Given the description of an element on the screen output the (x, y) to click on. 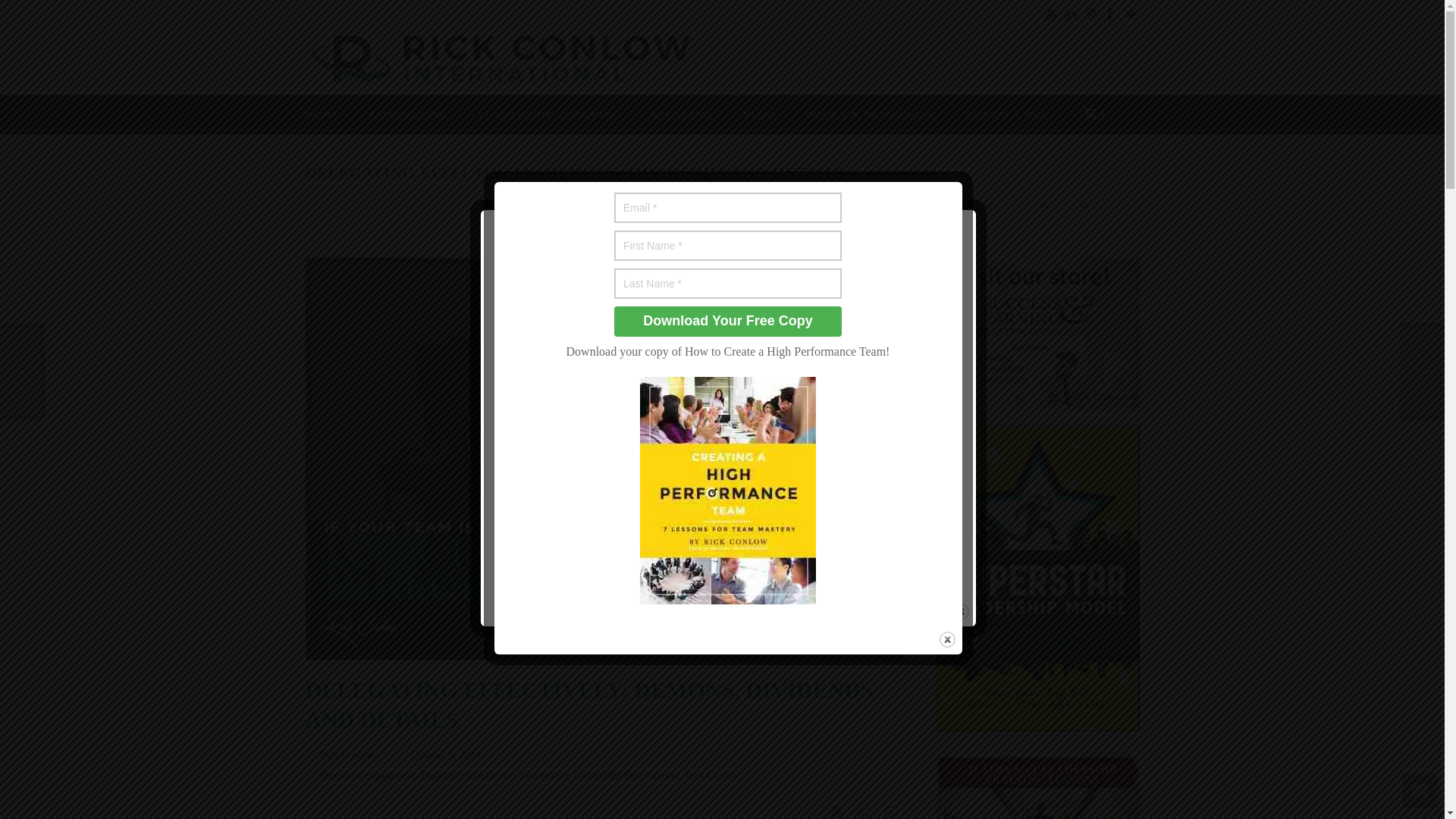
Posts by Rick Conlow (346, 754)
Download Your Free Copy (727, 321)
HOME (702, 204)
LEADERSHIP COACHING (550, 115)
EMPLOYEE ENGAGEMENT (782, 204)
October 3, 2014 (445, 754)
HOME (322, 115)
CONTACT RCI (1005, 115)
CONTACT RCI (1005, 115)
SPEAKING (681, 115)
BLOG (759, 115)
LEADERSHIP COACHING (550, 115)
HOME (322, 115)
0 (1090, 113)
